Given the description of an element on the screen output the (x, y) to click on. 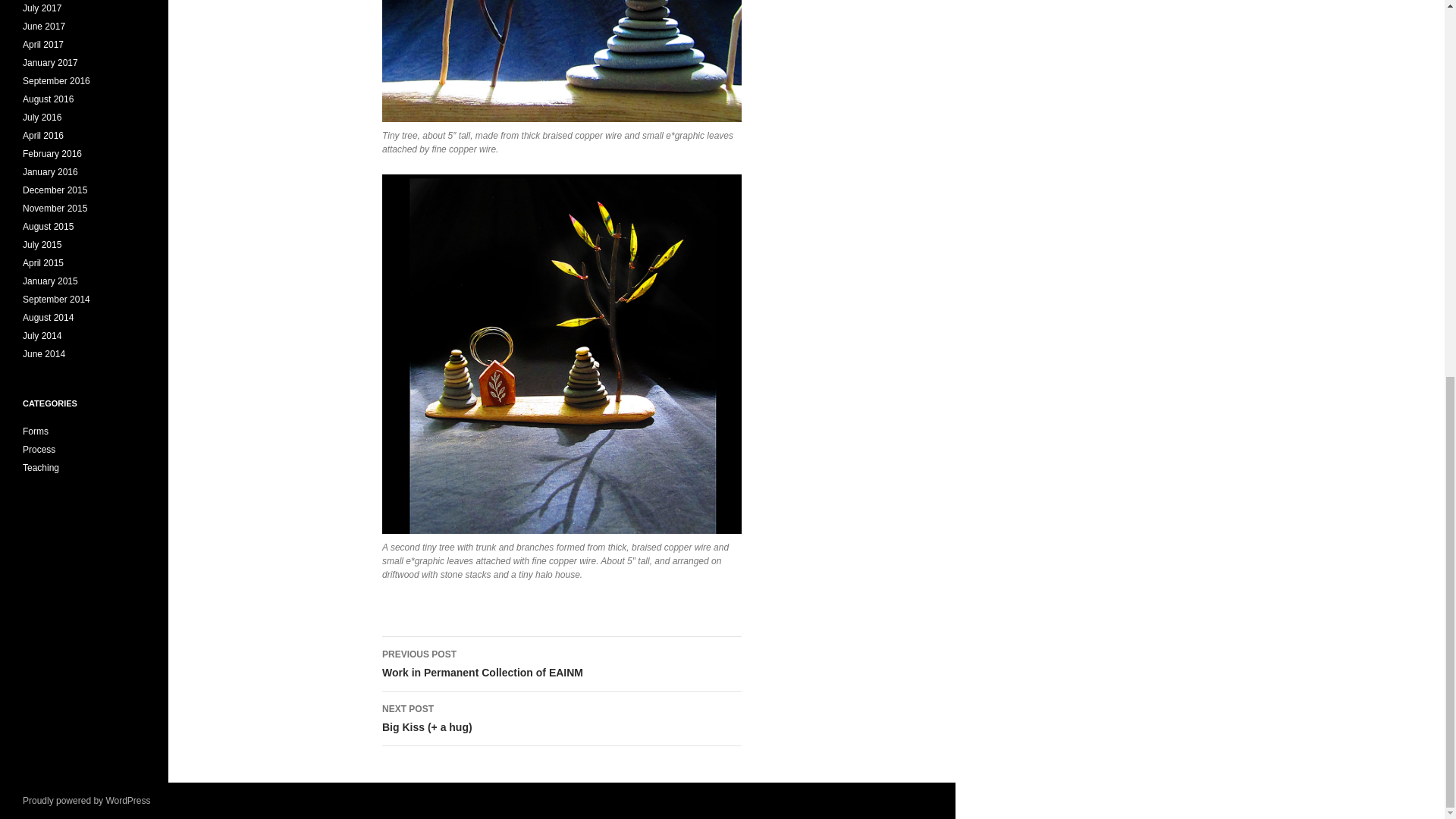
April 2017 (43, 44)
June 2017 (44, 26)
July 2017 (42, 8)
